Given the description of an element on the screen output the (x, y) to click on. 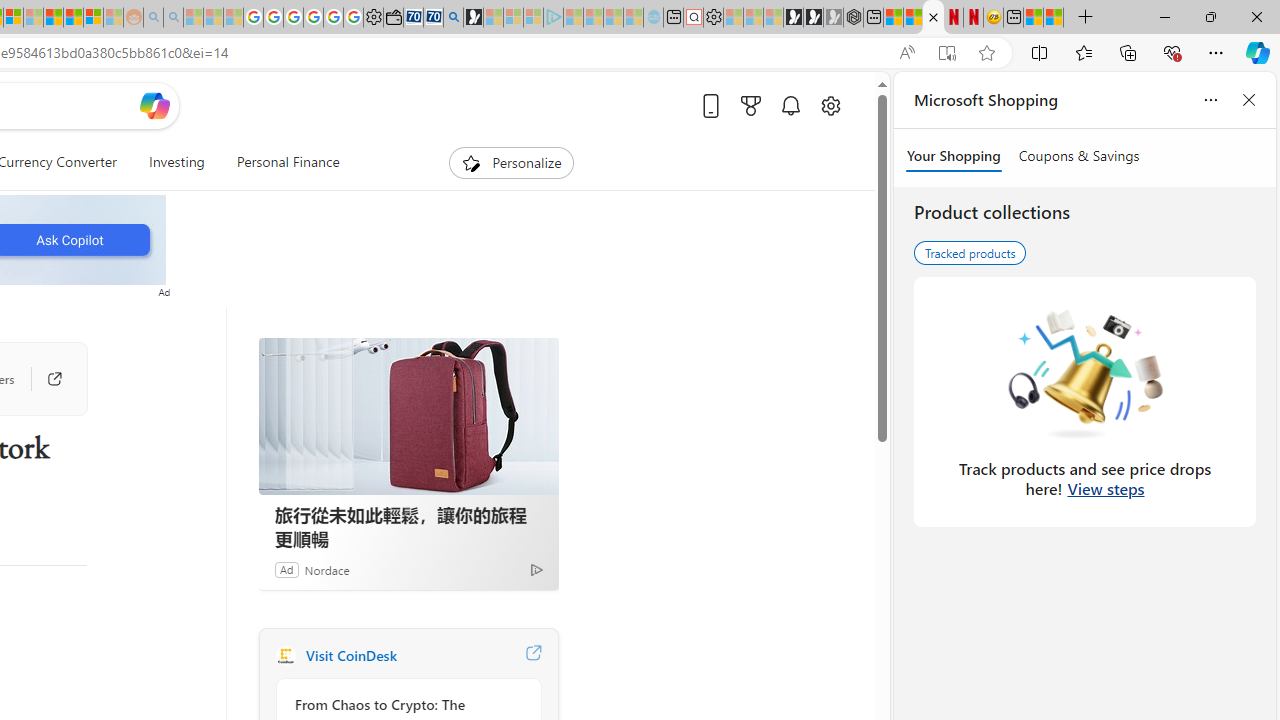
Wildlife - MSN (1033, 17)
